Given the description of an element on the screen output the (x, y) to click on. 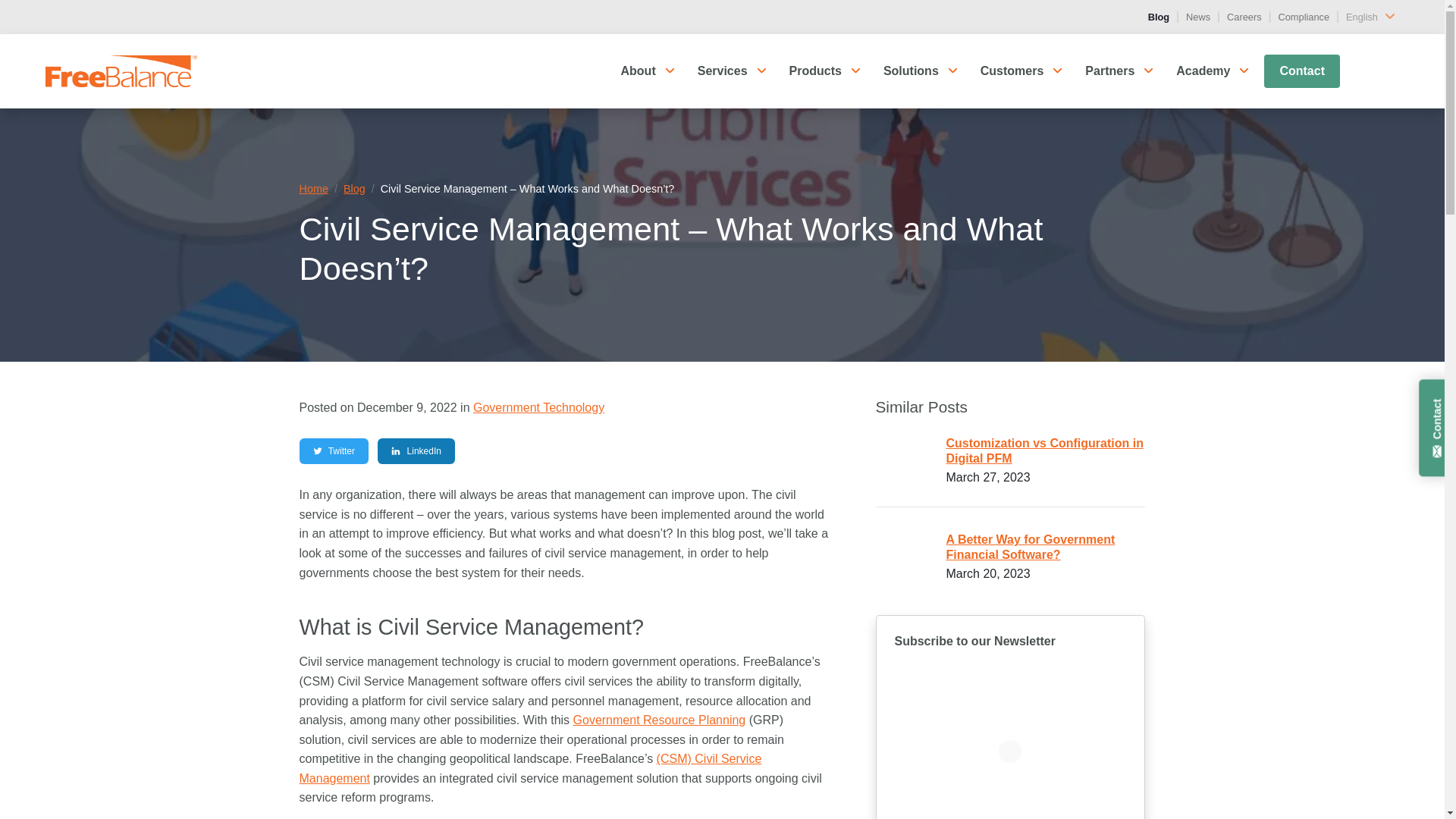
Services (1370, 69)
Compliance (1305, 16)
About (1286, 69)
English (1374, 15)
Careers (1245, 16)
Blog (1161, 16)
News (1200, 16)
